Given the description of an element on the screen output the (x, y) to click on. 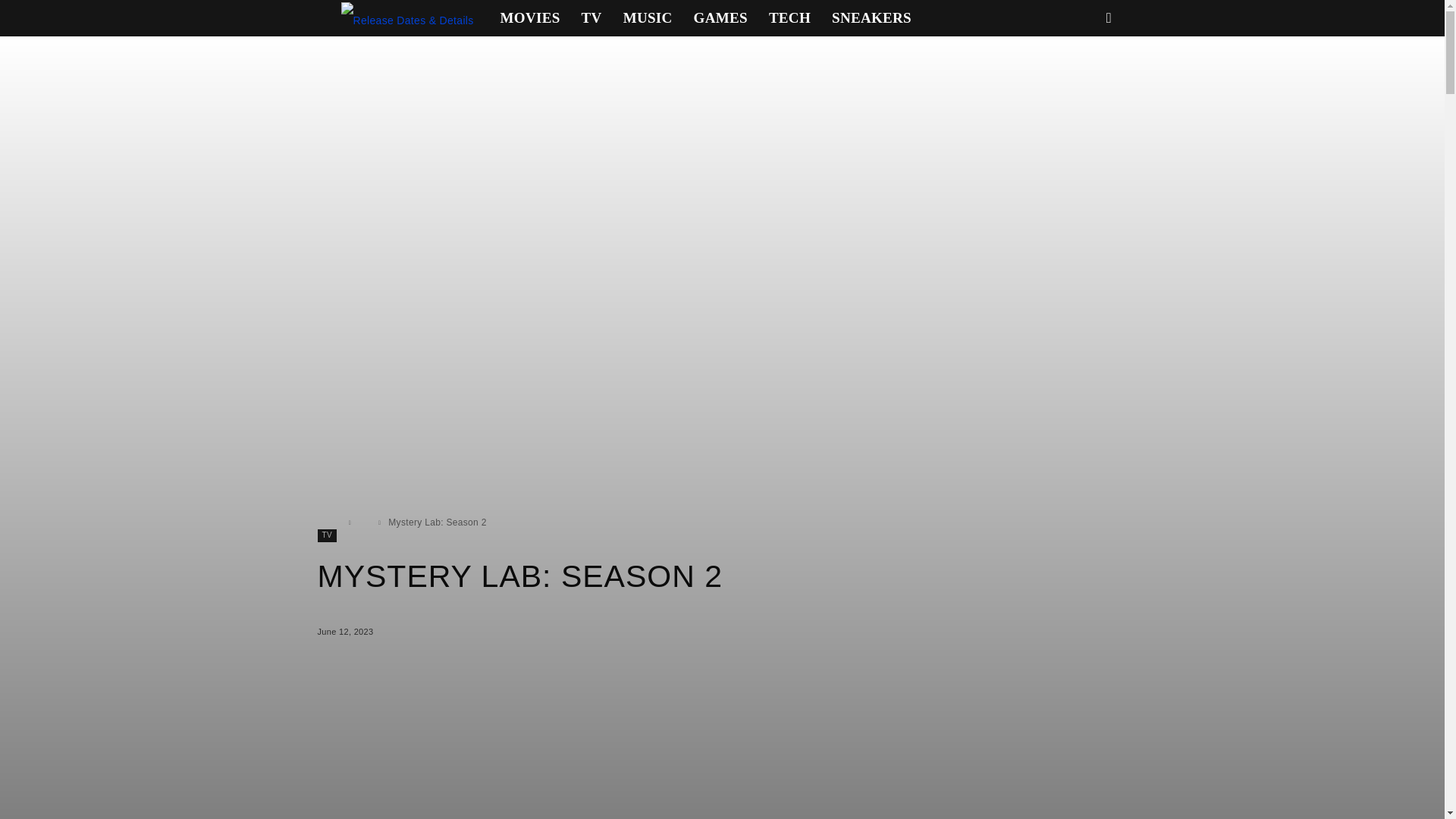
MUSIC (647, 18)
Release Details (406, 18)
New Movie Releases (529, 18)
TECH (789, 18)
GAMES (720, 18)
TV (591, 18)
MOVIES (529, 18)
